Given the description of an element on the screen output the (x, y) to click on. 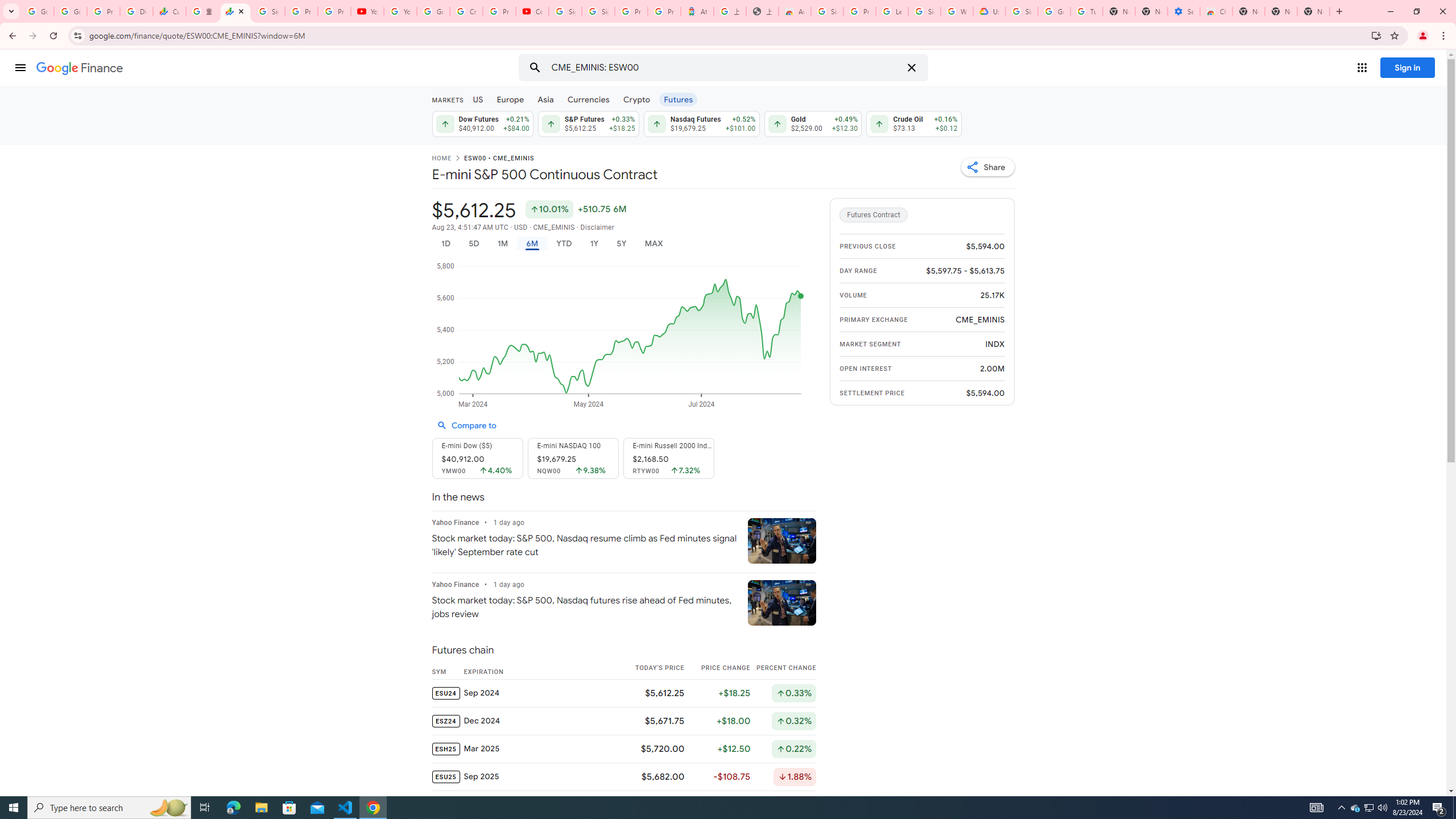
Chrome Web Store - Accessibility extensions (1216, 11)
Crypto (636, 99)
Awesome Screen Recorder & Screenshot - Chrome Web Store (794, 11)
5Y (621, 243)
YouTube (400, 11)
Settings - Accessibility (1183, 11)
1D (445, 243)
1M (501, 243)
Gold $2,529.00 Up by 0.49% +$12.30 (812, 123)
